Given the description of an element on the screen output the (x, y) to click on. 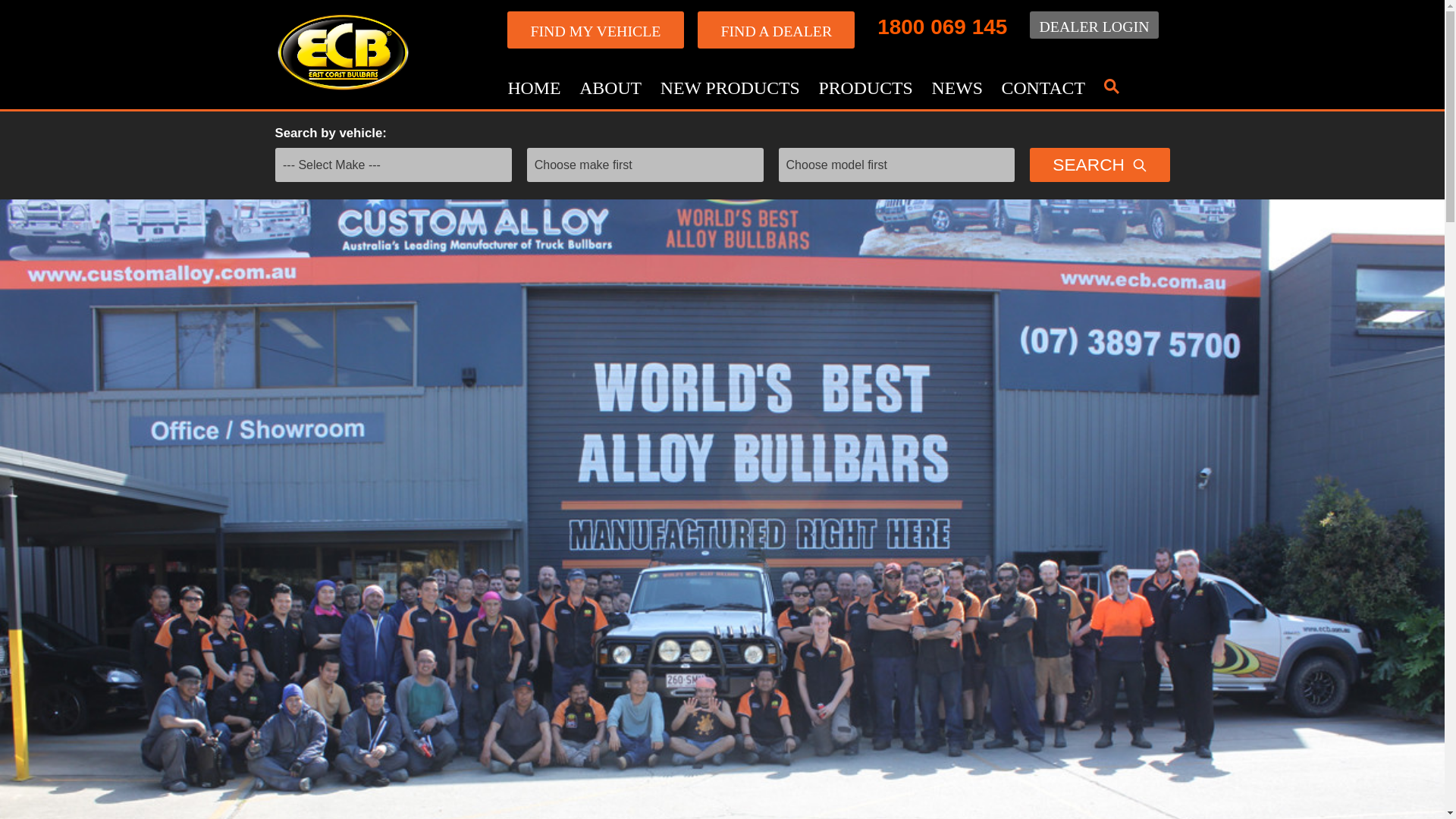
PRODUCTS (865, 87)
1800 069 145 (942, 26)
ABOUT (610, 87)
HOME (533, 87)
DEALER LOGIN (1093, 24)
FIND A DEALER (775, 29)
FIND MY VEHICLE (594, 29)
NEW PRODUCTS (730, 87)
